Given the description of an element on the screen output the (x, y) to click on. 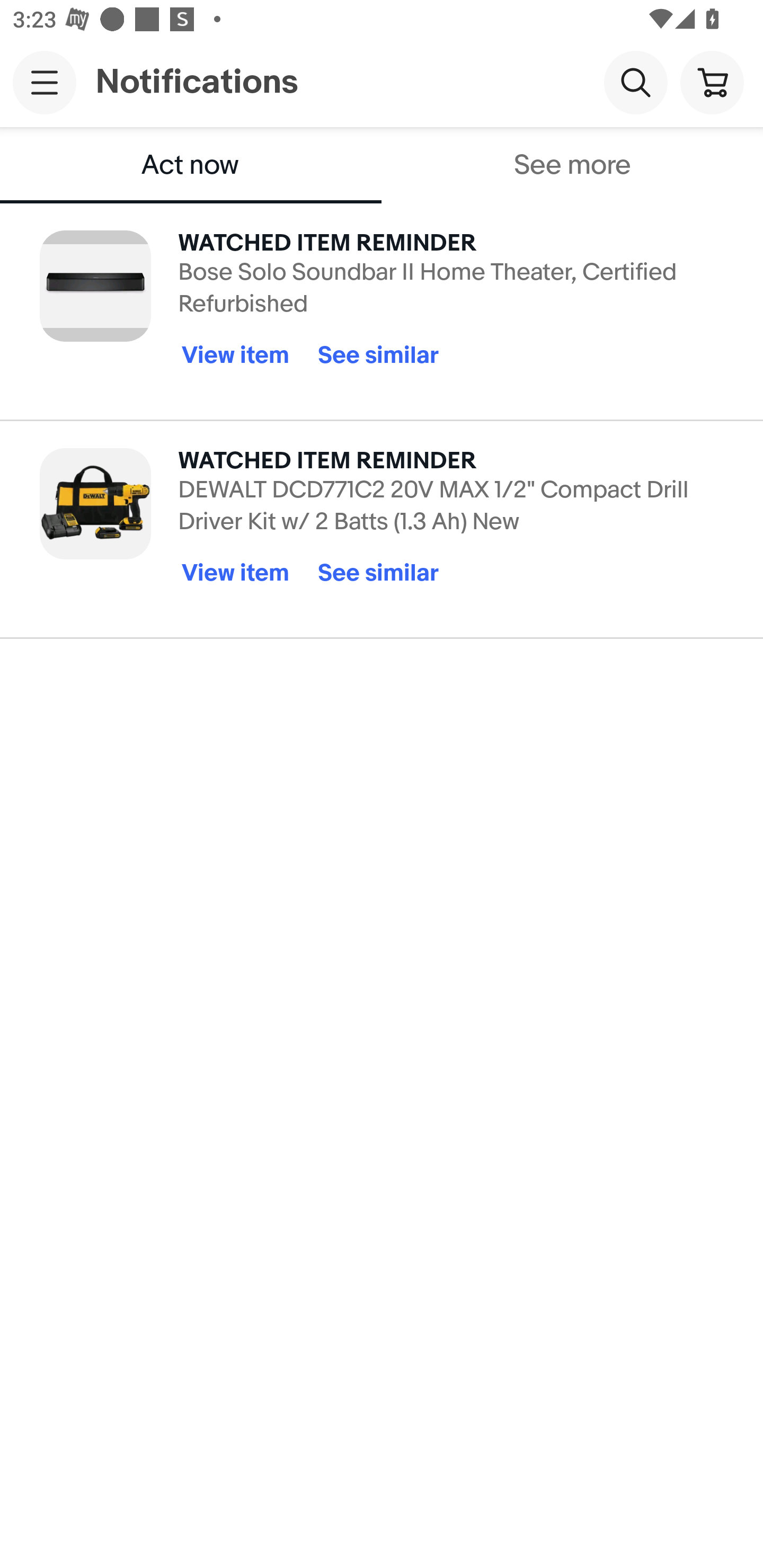
Main navigation, open (44, 82)
Search (635, 81)
Cart button shopping cart (711, 81)
See more (572, 165)
View item (235, 355)
See similar (378, 355)
View item (235, 573)
See similar (378, 573)
